Given the description of an element on the screen output the (x, y) to click on. 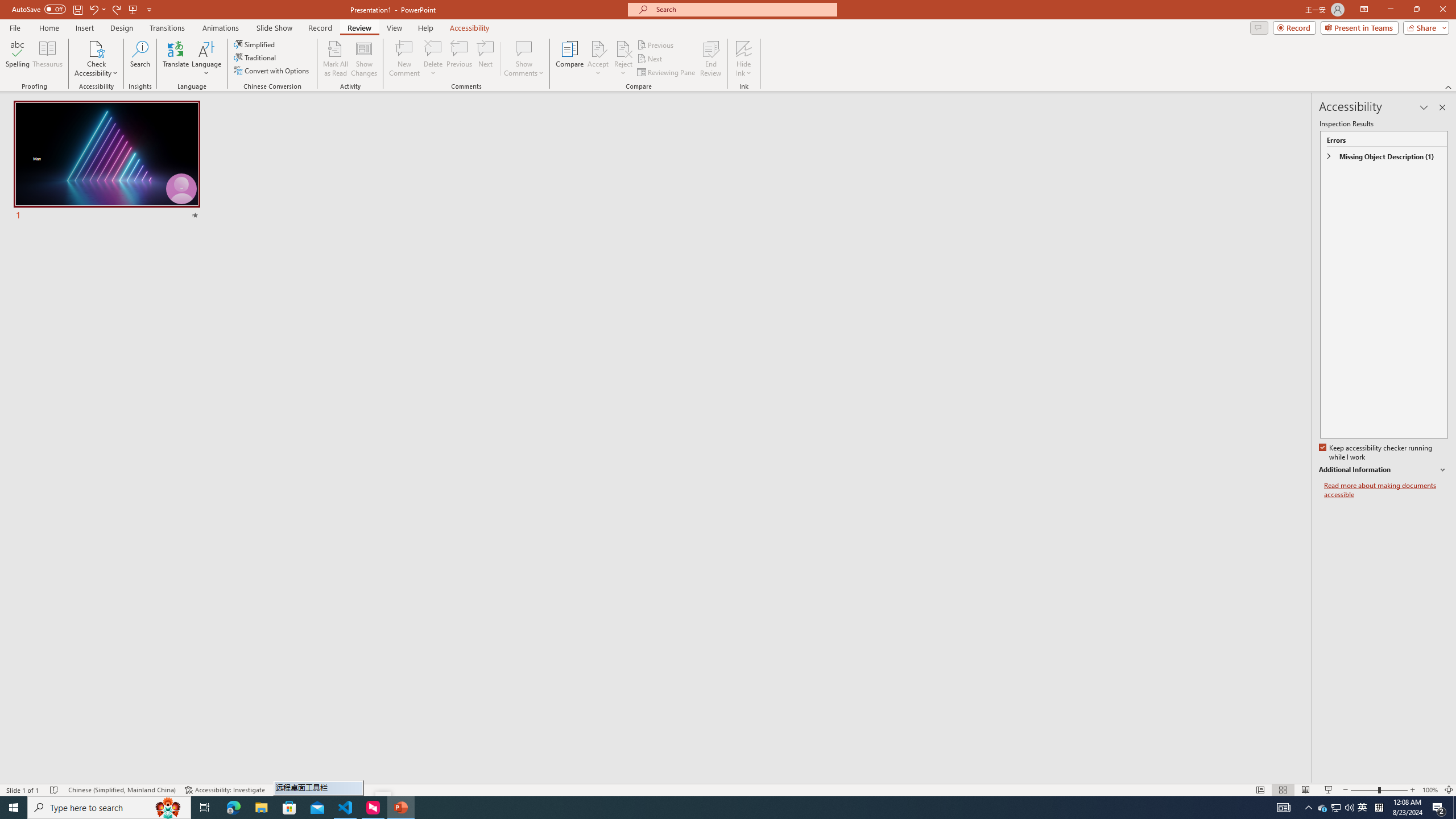
Language (206, 58)
Show Comments (524, 58)
Reject Change (622, 48)
Convert with Options... (272, 69)
